Given the description of an element on the screen output the (x, y) to click on. 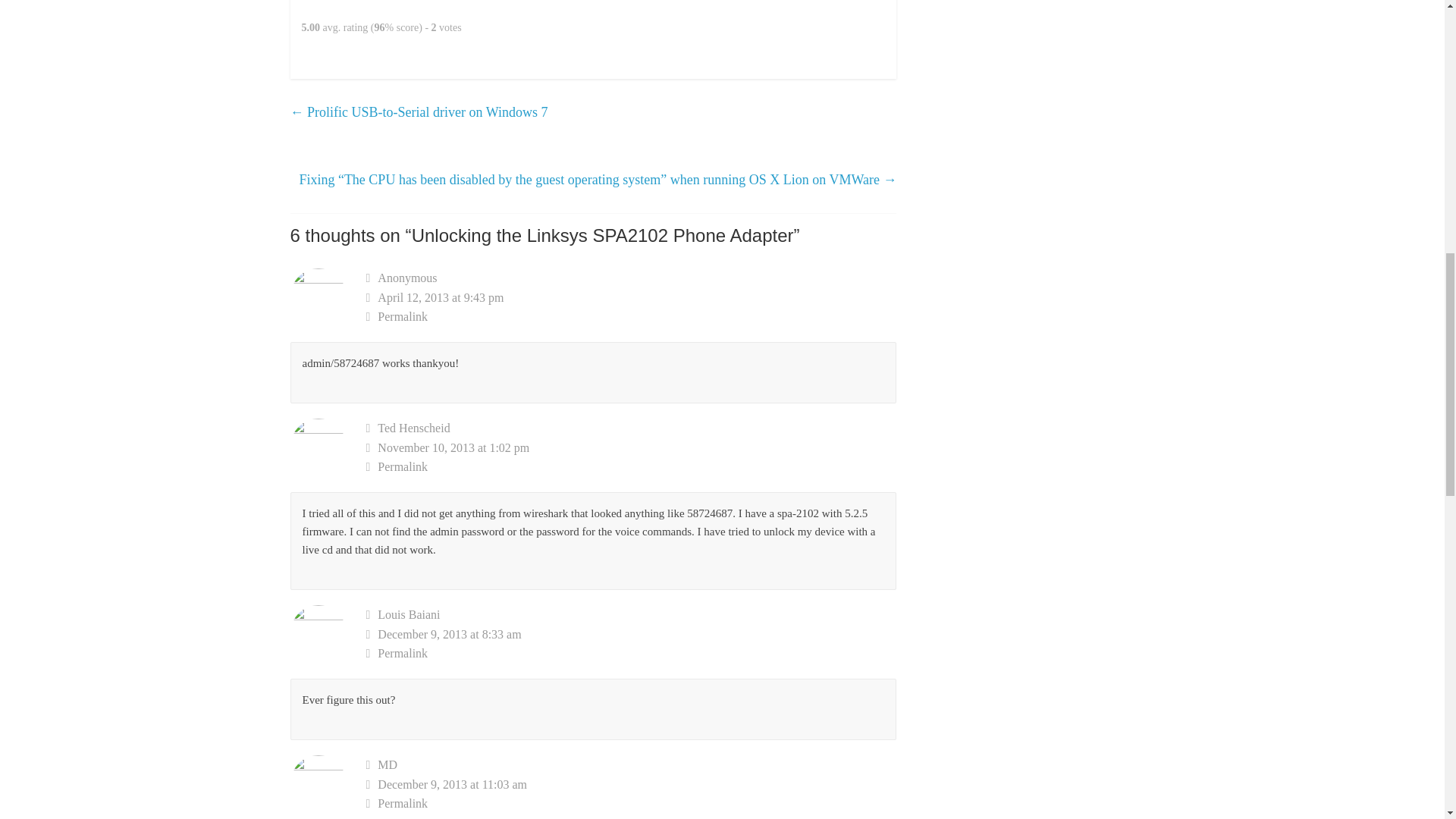
Permalink (630, 803)
Permalink (630, 653)
Permalink (630, 316)
Permalink (630, 466)
